Given the description of an element on the screen output the (x, y) to click on. 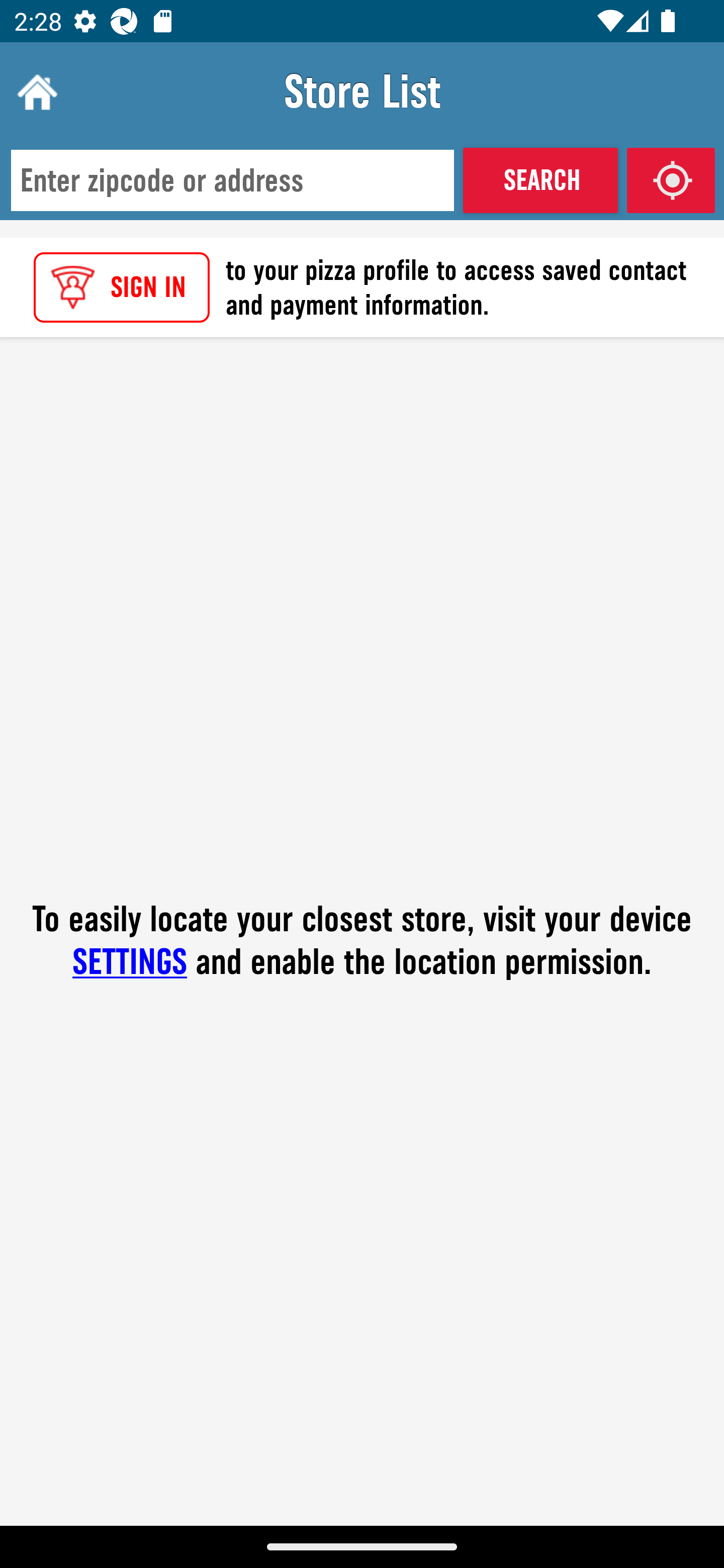
Home (35, 91)
SEARCH (540, 180)
Use Current Location (670, 180)
Enter zipcode or address (231, 180)
SIGN IN (121, 287)
